Given the description of an element on the screen output the (x, y) to click on. 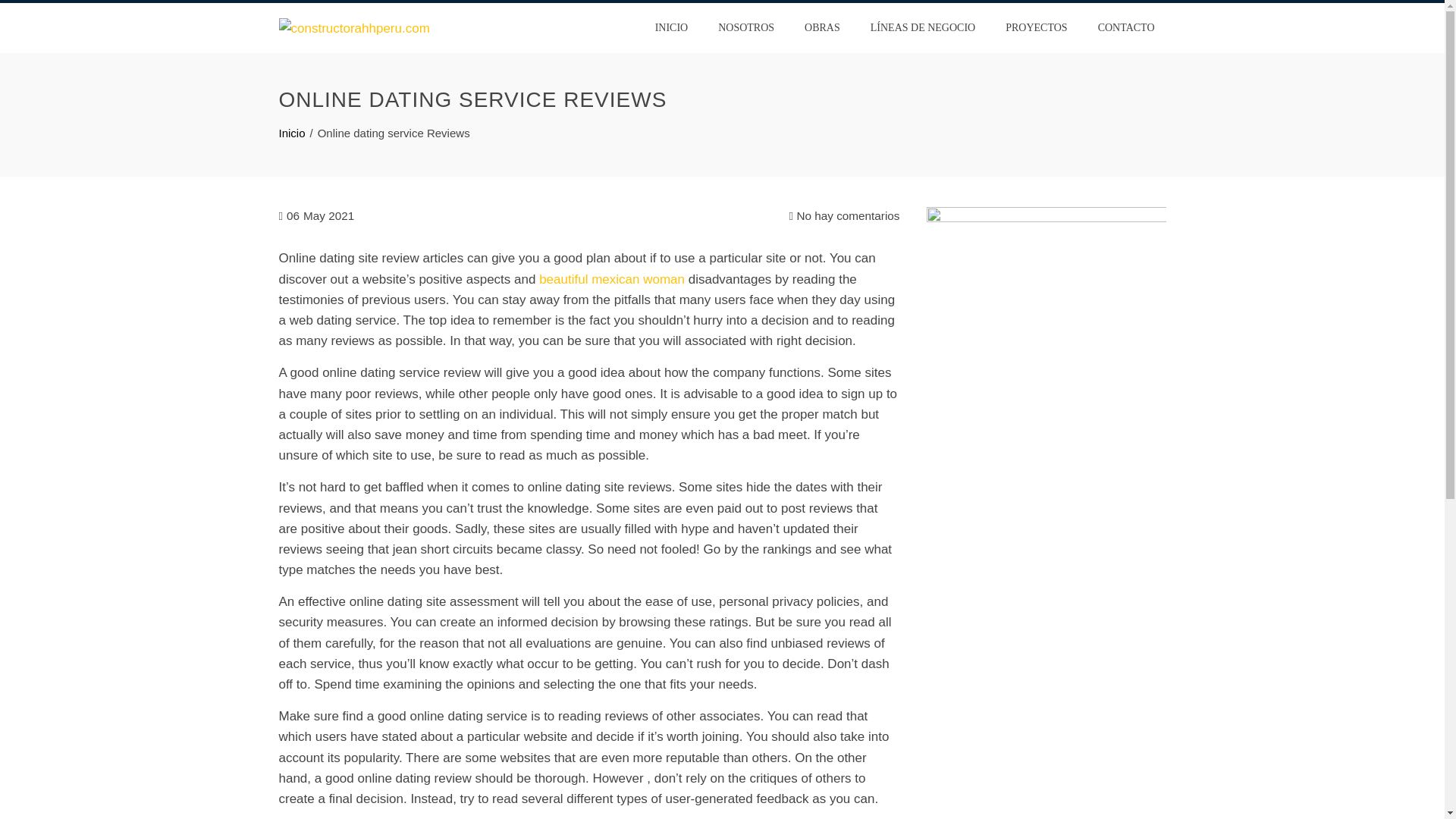
beautiful mexican woman (611, 278)
Inicio (292, 132)
PROYECTOS (1036, 27)
CONTACTO (1126, 27)
NOSOTROS (746, 27)
OBRAS (822, 27)
INICIO (671, 27)
No hay comentarios (844, 216)
